Given the description of an element on the screen output the (x, y) to click on. 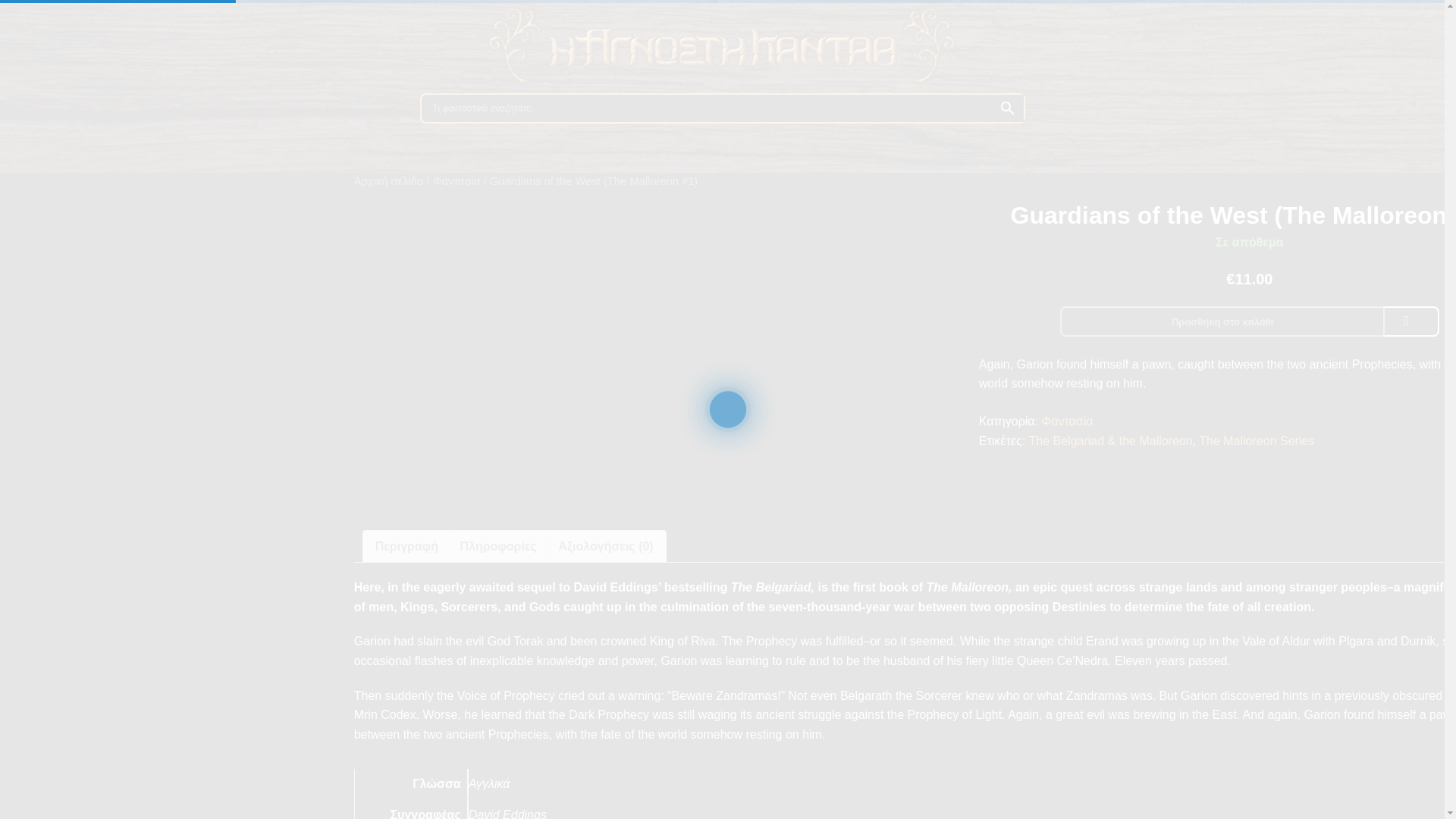
The Malloreon Series (1256, 440)
